Given the description of an element on the screen output the (x, y) to click on. 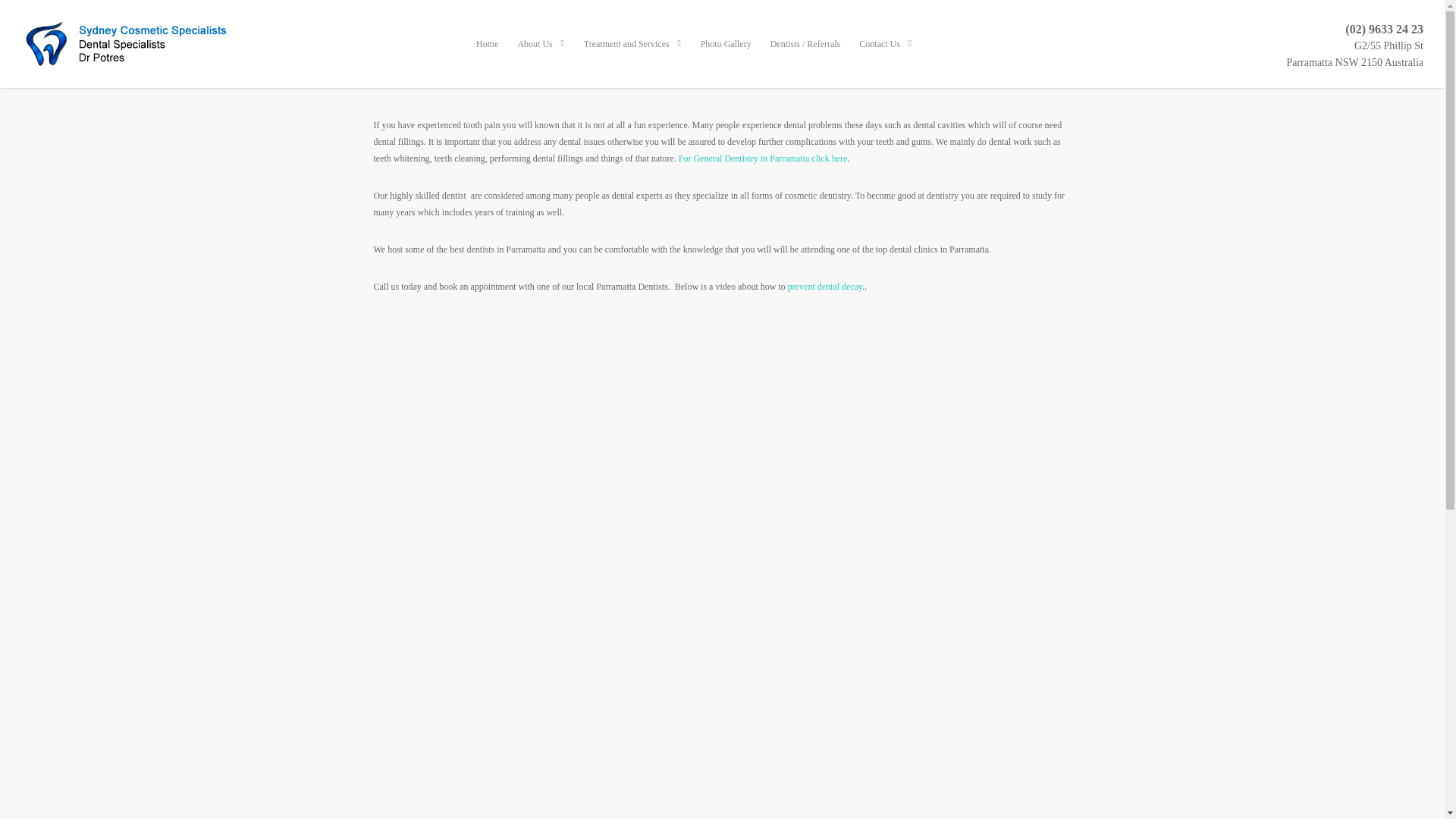
prevent dental decay (825, 286)
For General Dentistry in Parramatta click here (762, 158)
For General Dentistry in Parramatta click here (762, 158)
Photo Gallery (725, 54)
prevent tooth decay (825, 286)
Contact Us (885, 54)
About Us (540, 54)
Treatment and Services (632, 54)
